Given the description of an element on the screen output the (x, y) to click on. 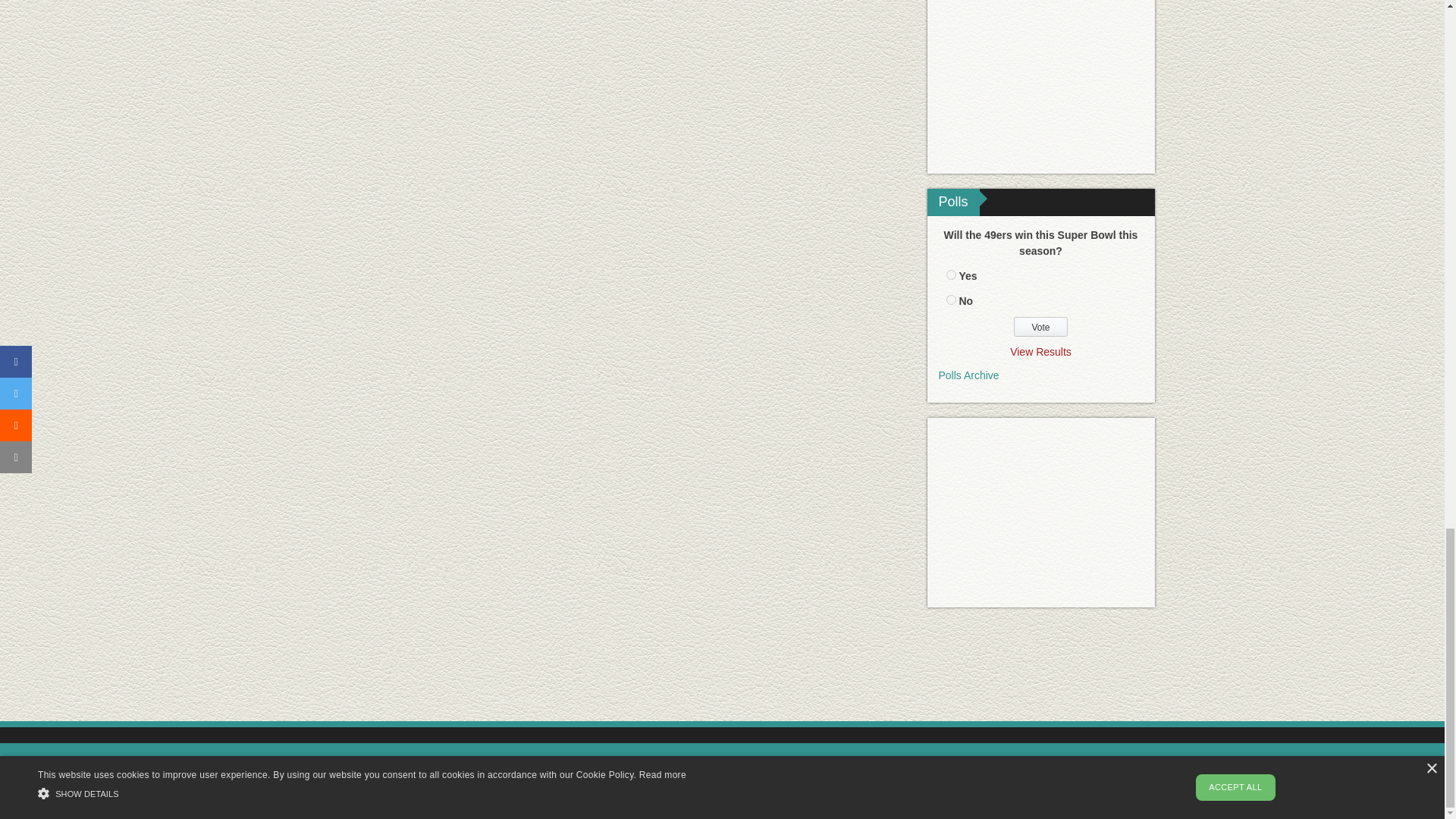
SMI Media (374, 766)
View Results Of This Poll (1040, 351)
948 (951, 275)
View Results (1040, 351)
949 (951, 299)
Do Not Sell My Personal Info (800, 804)
   Vote    (1040, 326)
Privacy (592, 804)
3rd party ad content (1040, 512)
3rd party ad content (1040, 86)
Polls Archive (968, 375)
Cookie Preferences (670, 804)
3rd party ad content (721, 671)
